Given the description of an element on the screen output the (x, y) to click on. 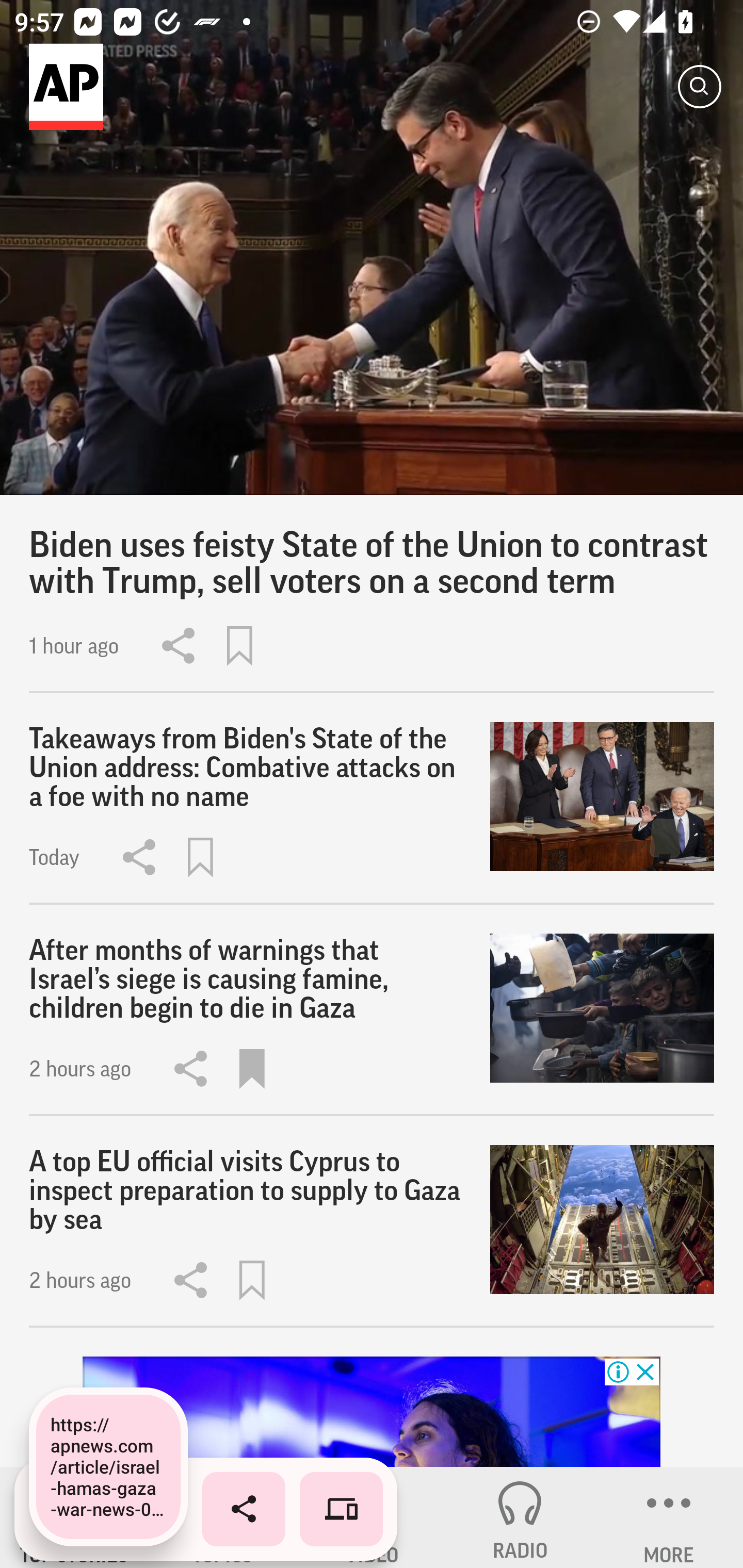
TOPICS (222, 1517)
VIDEO (371, 1517)
RADIO (519, 1517)
MORE (668, 1517)
